Given the description of an element on the screen output the (x, y) to click on. 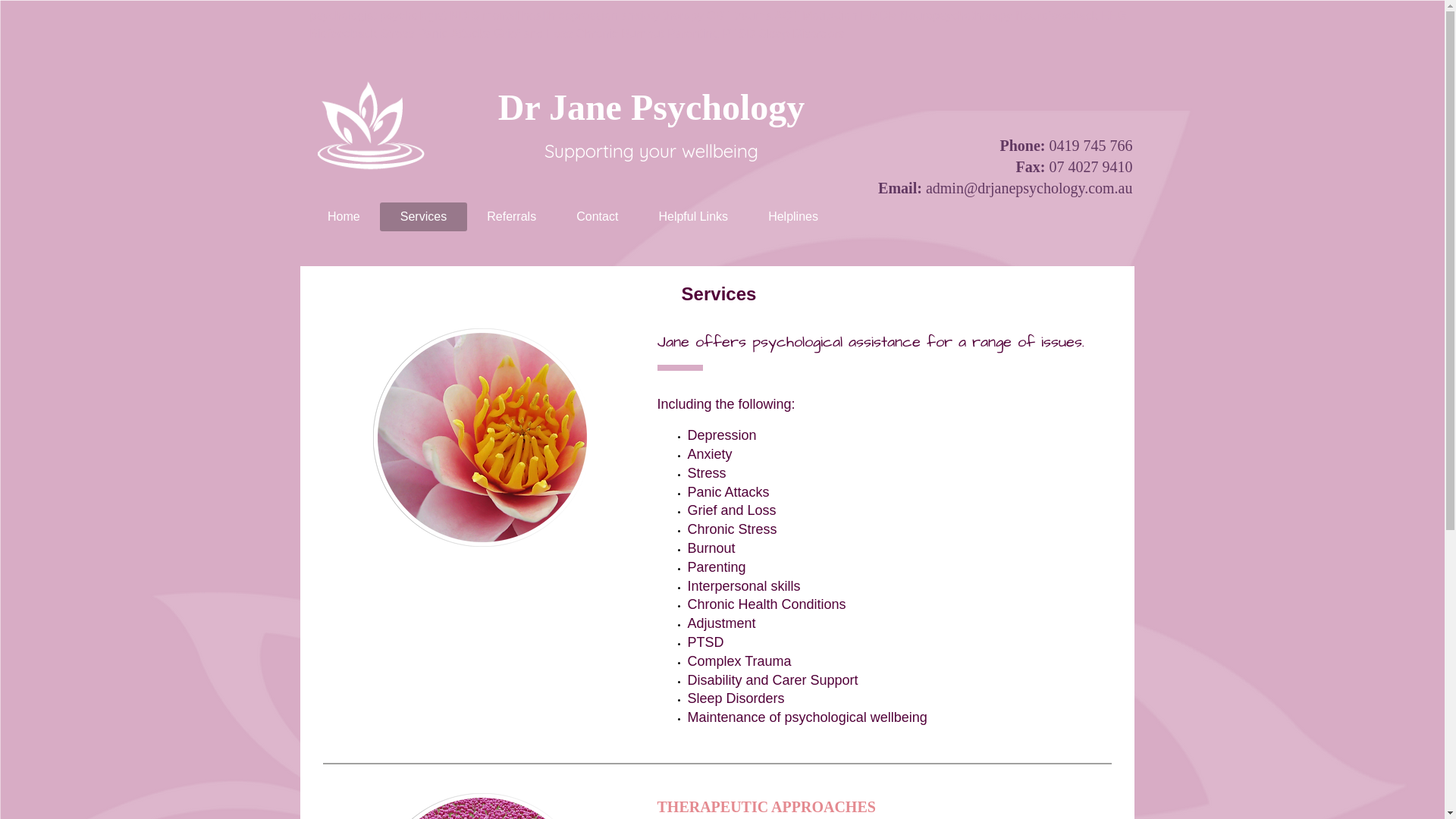
Referrals Element type: text (511, 216)
Services Element type: text (422, 216)
admin@drjanepsychology.com.au Element type: text (1028, 187)
Helpful Links Element type: text (693, 216)
Home Element type: text (343, 216)
Contact Element type: text (597, 216)
Helplines Element type: text (793, 216)
